Given the description of an element on the screen output the (x, y) to click on. 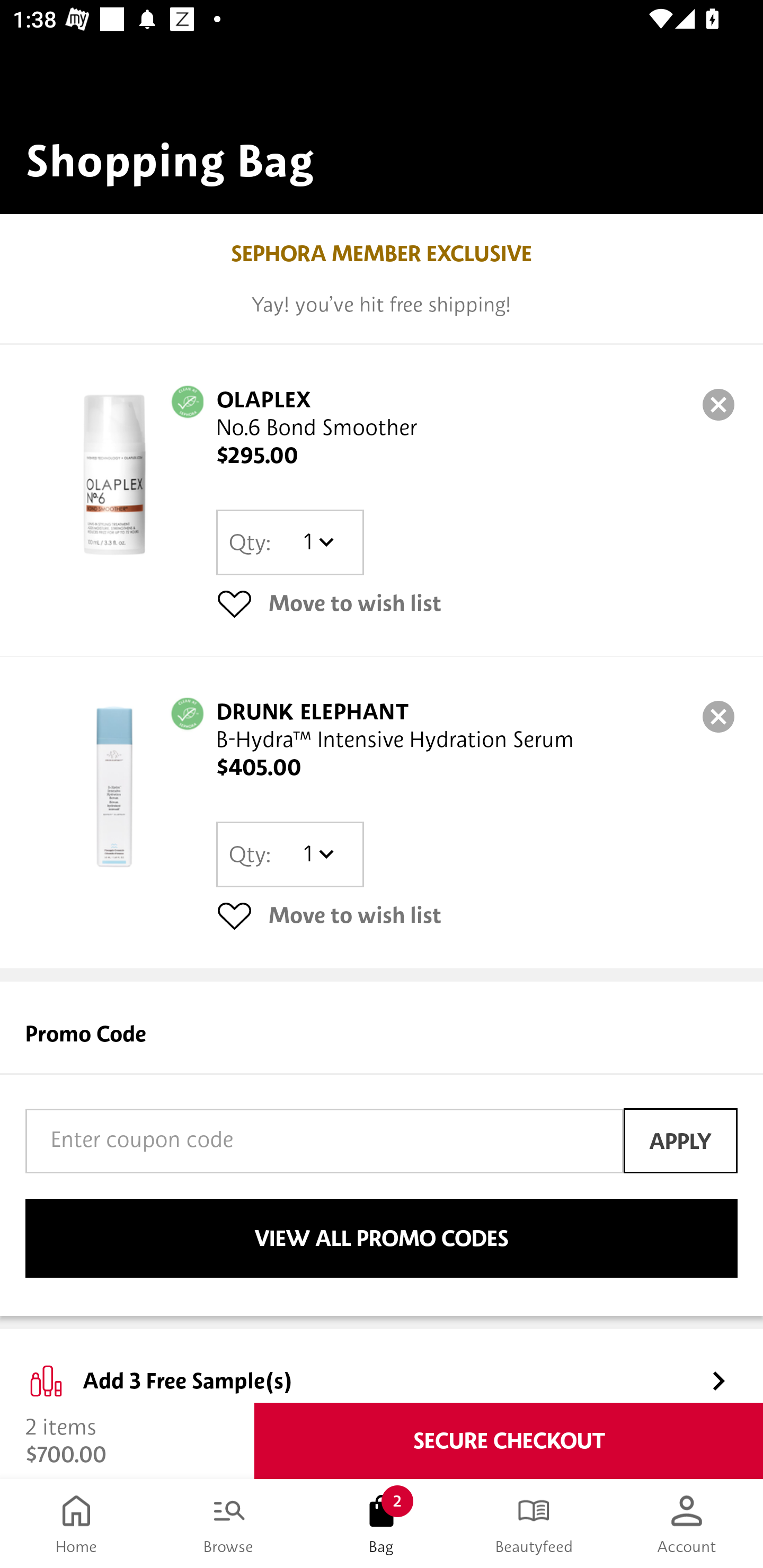
1 (317, 542)
Move to wish list (476, 602)
1 (317, 854)
Move to wish list (476, 914)
APPLY (680, 1140)
Enter coupon code (324, 1140)
VIEW ALL PROMO CODES (381, 1238)
Add 3 Free Sample(s) (381, 1365)
SECURE CHECKOUT (508, 1440)
Home (76, 1523)
Browse (228, 1523)
Beautyfeed (533, 1523)
Account (686, 1523)
